Given the description of an element on the screen output the (x, y) to click on. 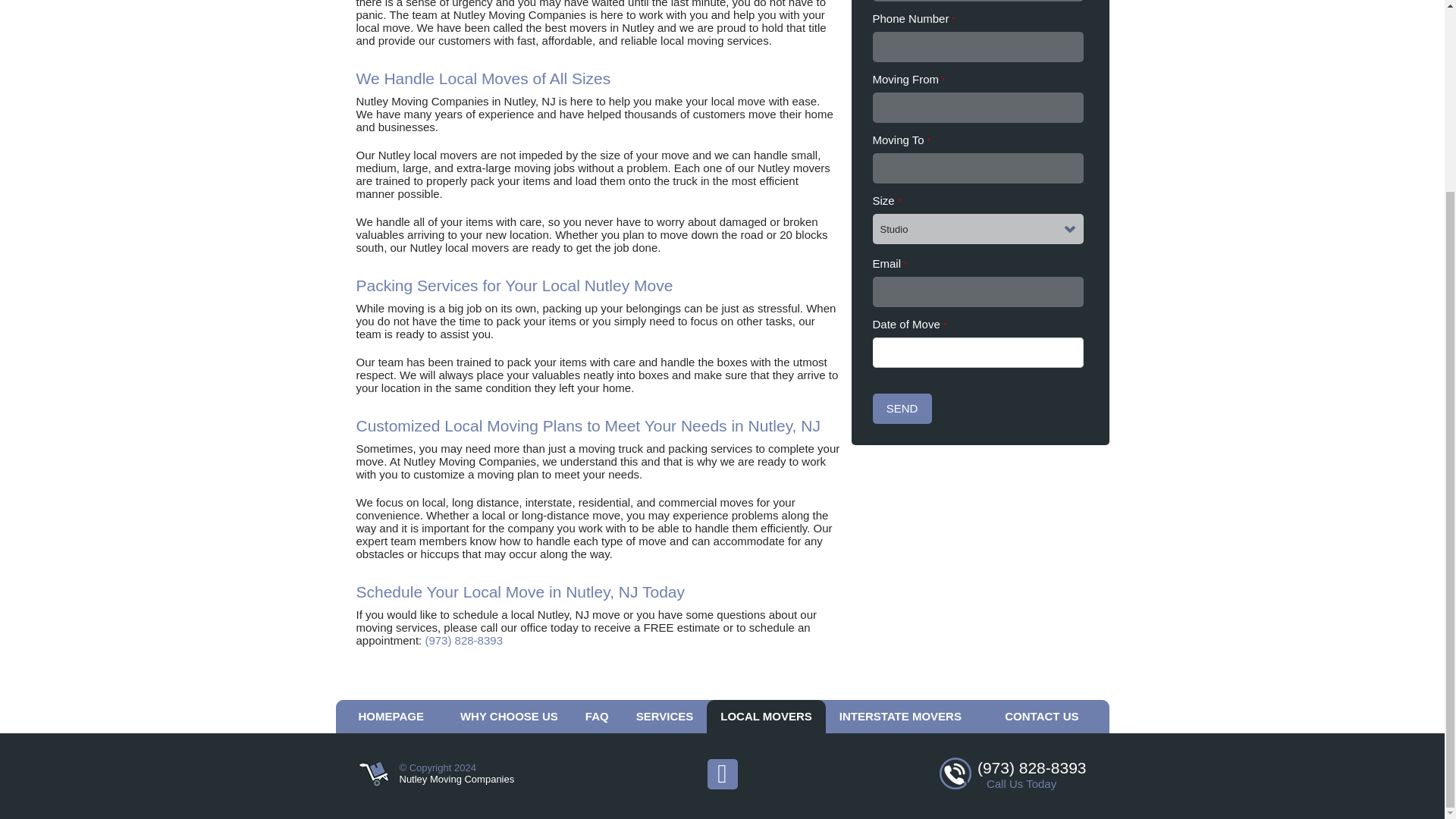
SERVICES (665, 716)
CONTACT US (1041, 716)
Nutley Moving Companies (455, 778)
INTERSTATE MOVERS (900, 716)
SEND (901, 408)
HOMEPAGE (389, 716)
WHY CHOOSE US (509, 716)
FAQ (597, 716)
LOCAL MOVERS (765, 716)
